Given the description of an element on the screen output the (x, y) to click on. 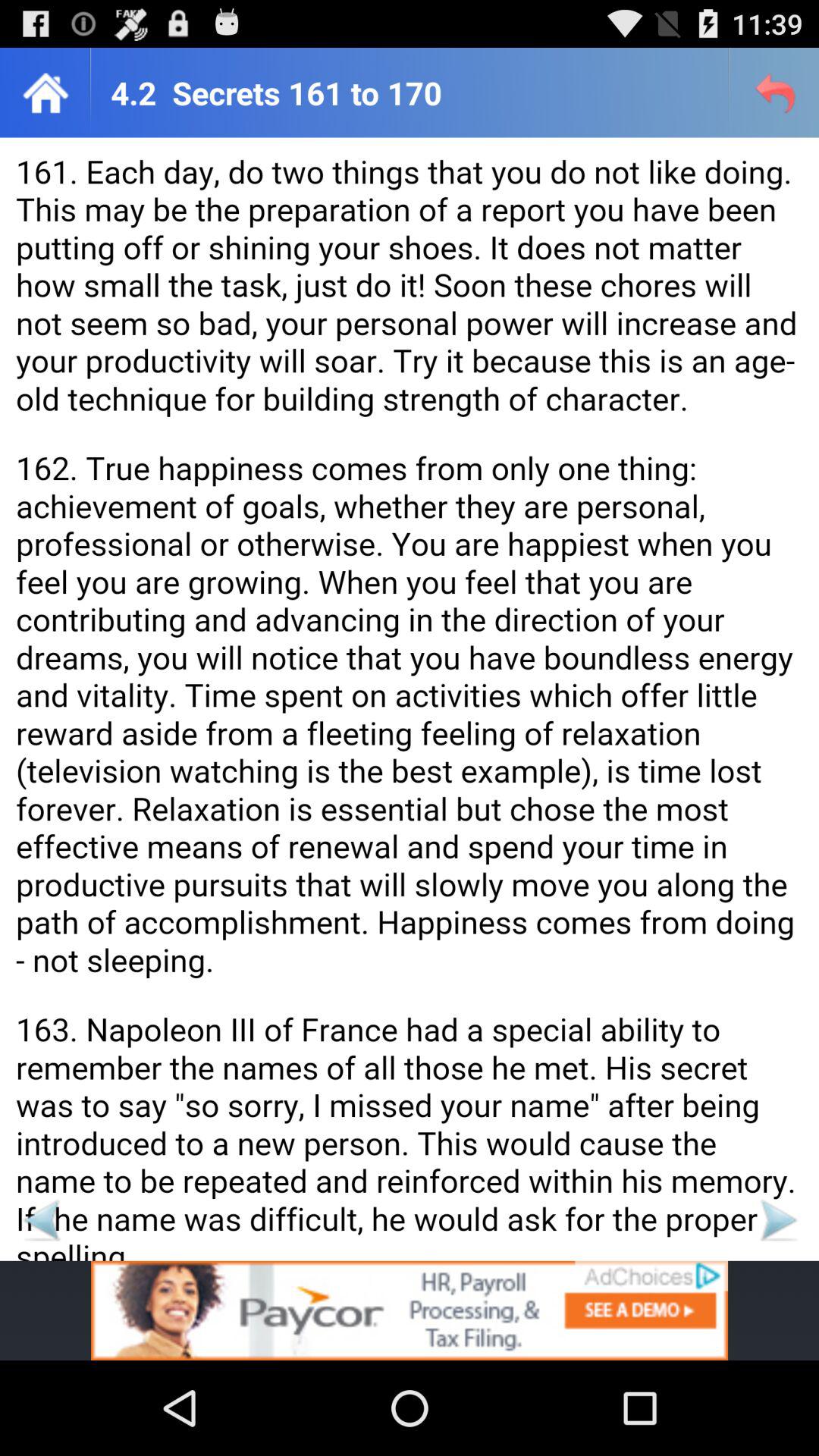
go back (41, 1219)
